Given the description of an element on the screen output the (x, y) to click on. 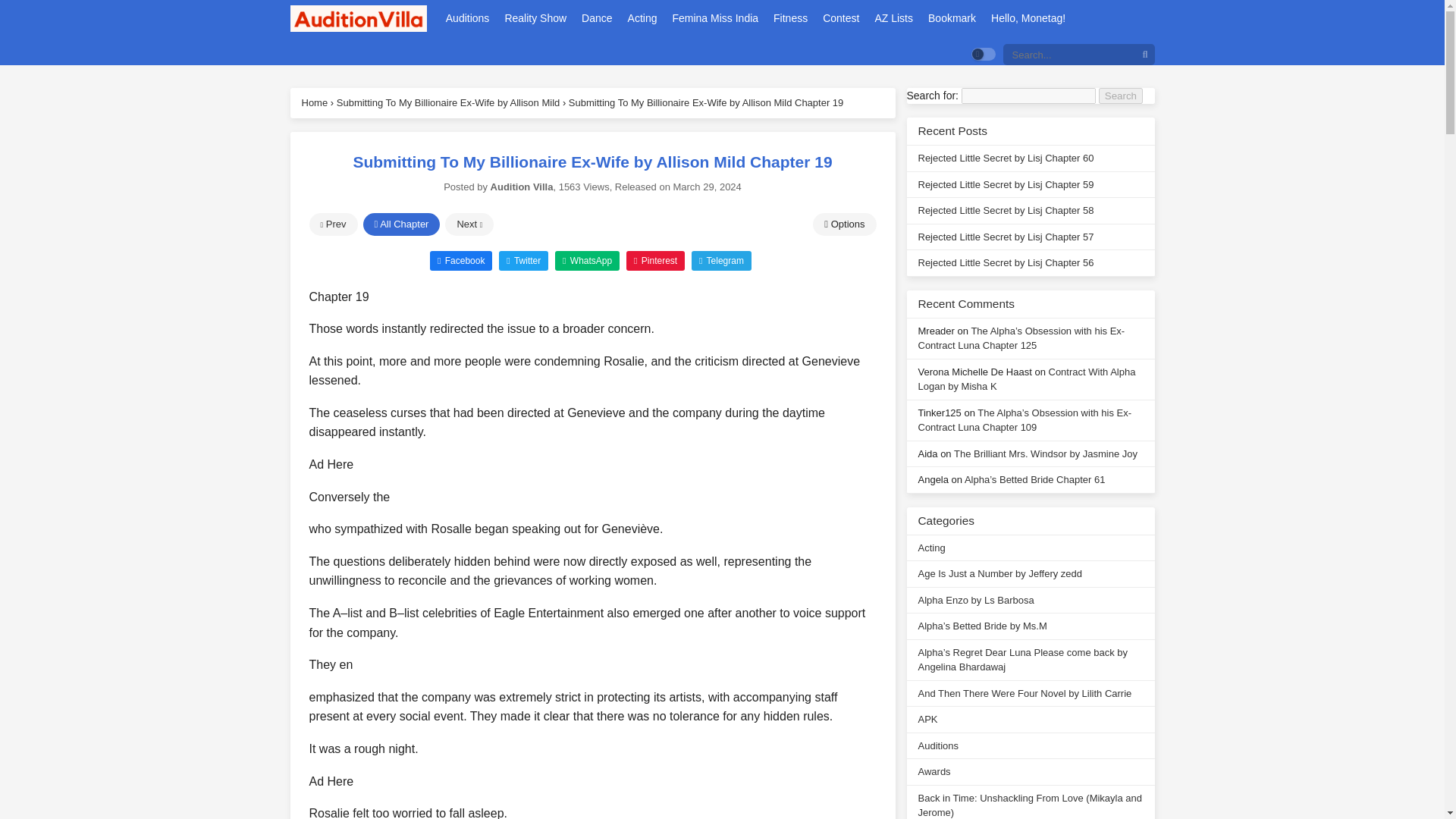
Fitness (790, 18)
AZ Lists (893, 18)
Telegram (721, 260)
Next (469, 223)
Search (1120, 95)
Auditions (467, 18)
Facebook (460, 260)
Search (1120, 95)
Acting (642, 18)
WhatsApp (587, 260)
Prev (333, 223)
Contest (840, 18)
Pinterest (655, 260)
Dance (596, 18)
